Given the description of an element on the screen output the (x, y) to click on. 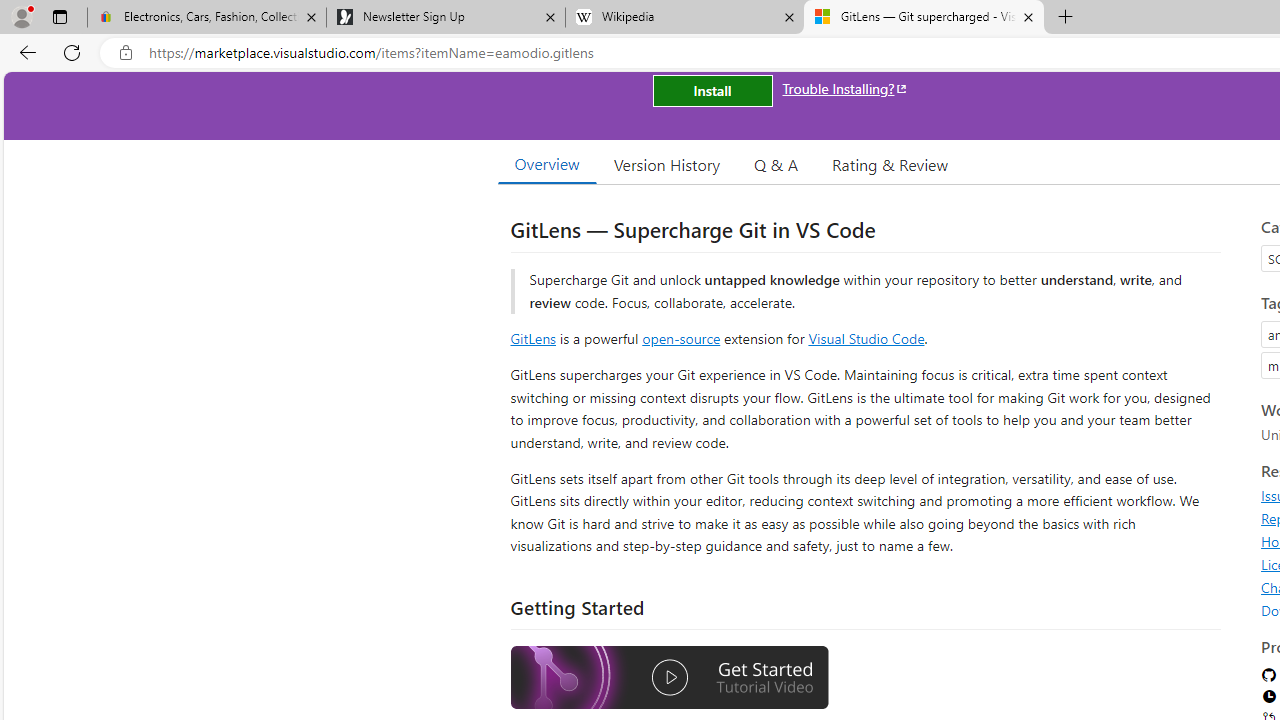
Q & A (776, 164)
Visual Studio Code (866, 337)
Refresh (72, 52)
Electronics, Cars, Fashion, Collectibles & More | eBay (207, 17)
View site information (125, 53)
New Tab (1066, 17)
Watch the GitLens Getting Started video (669, 678)
Newsletter Sign Up (445, 17)
Wikipedia (684, 17)
Watch the GitLens Getting Started video (669, 679)
Version History (667, 164)
Tab actions menu (59, 16)
